Given the description of an element on the screen output the (x, y) to click on. 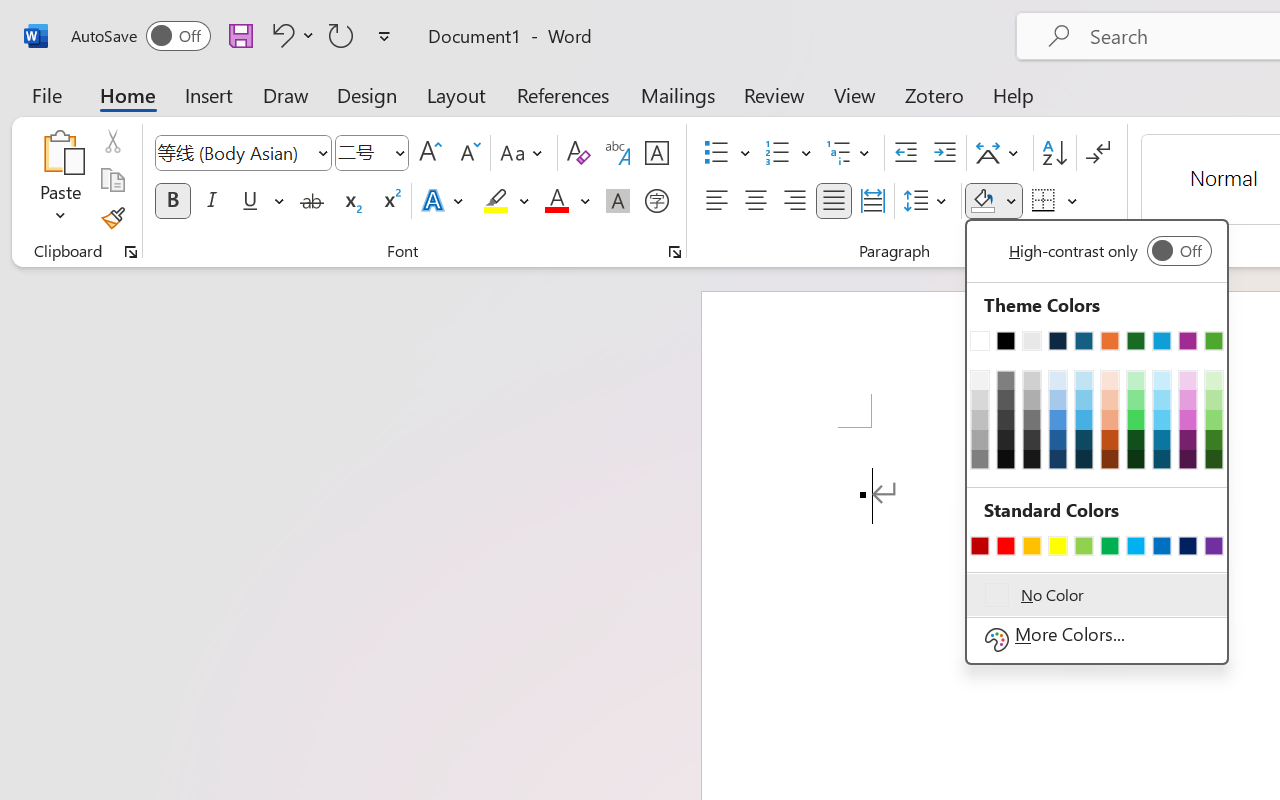
Undo Apply Quick Style (280, 35)
